Given the description of an element on the screen output the (x, y) to click on. 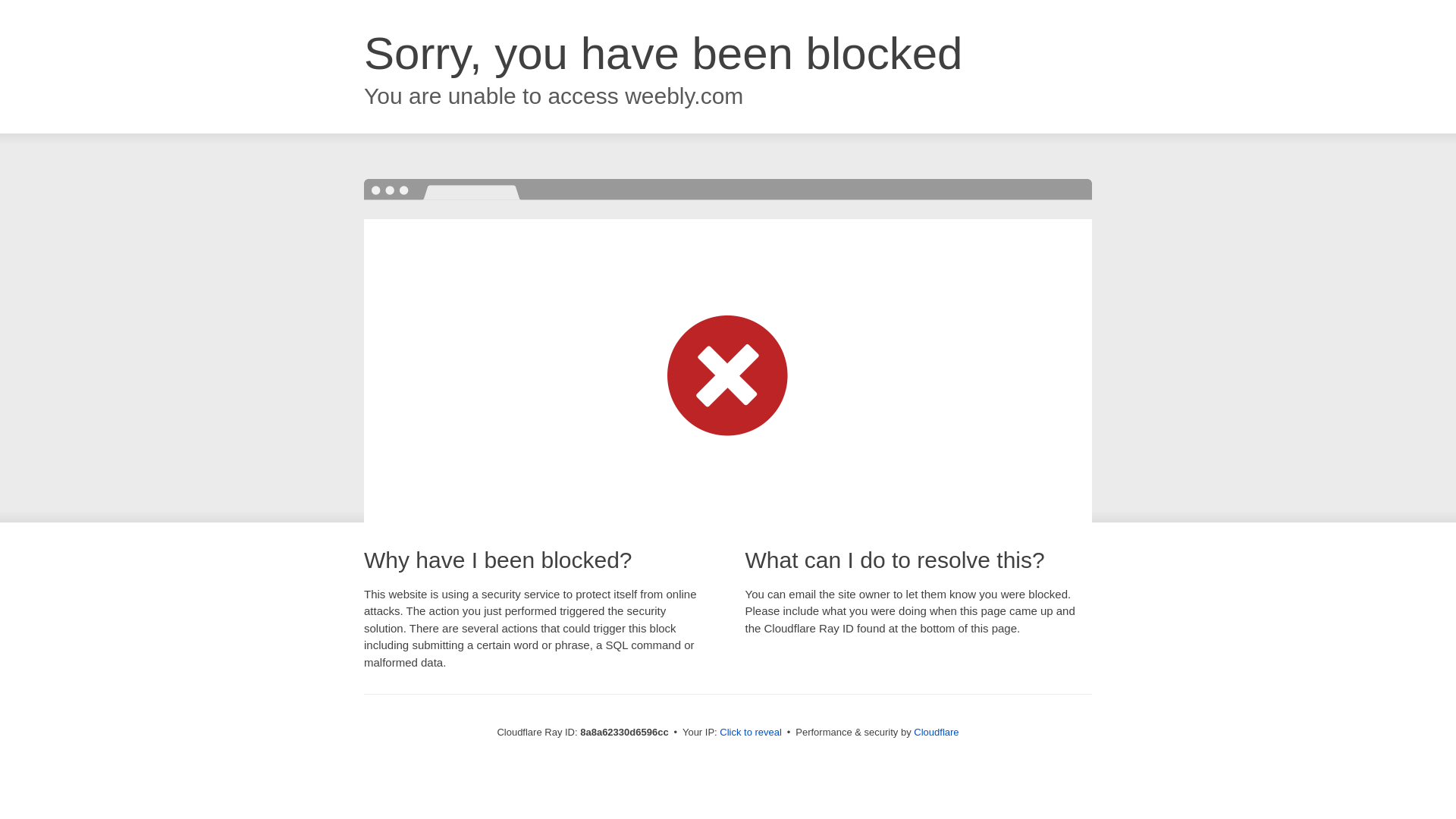
Click to reveal (750, 732)
Cloudflare (936, 731)
